Given the description of an element on the screen output the (x, y) to click on. 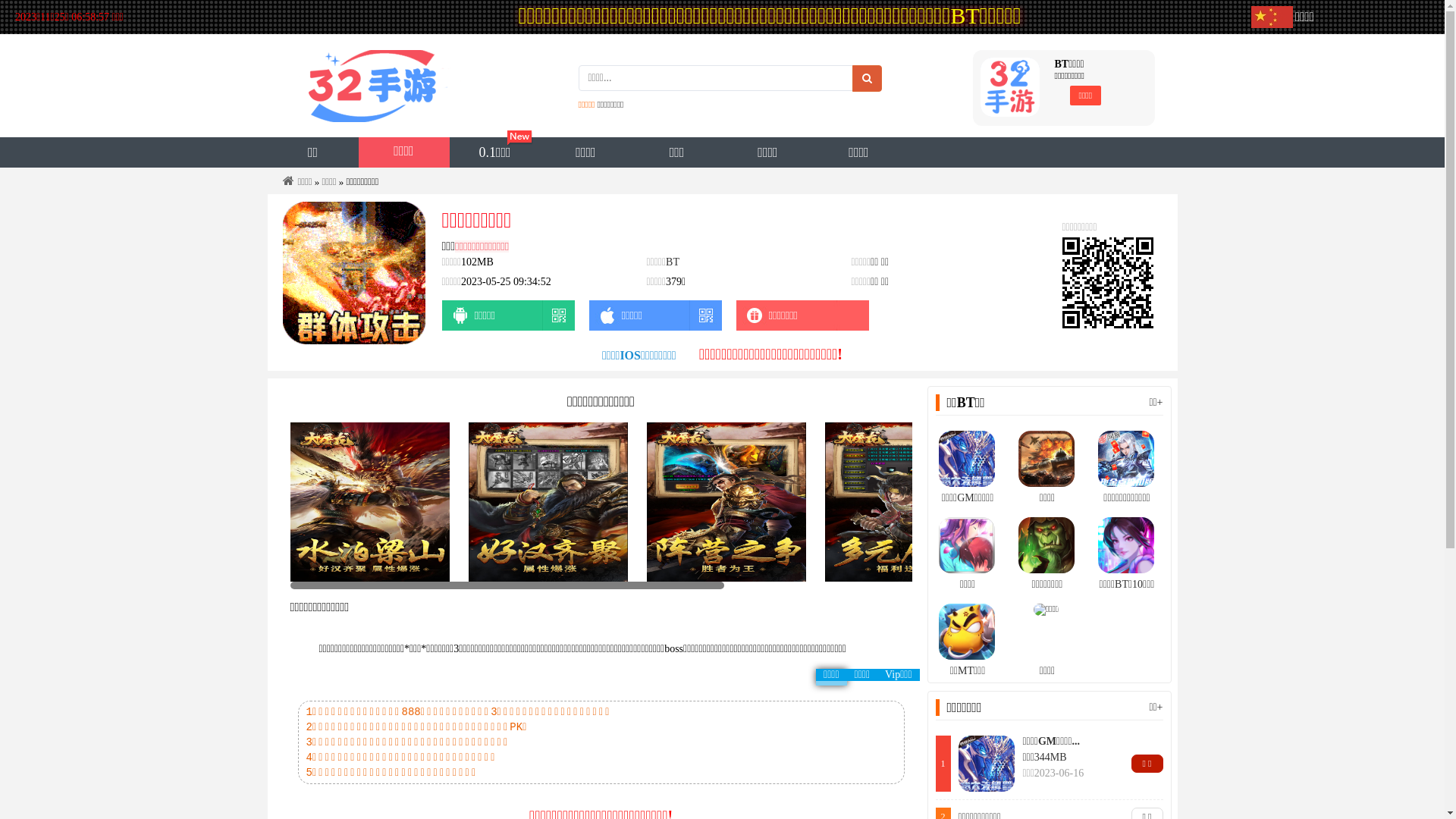
BT Element type: text (672, 261)
